Given the description of an element on the screen output the (x, y) to click on. 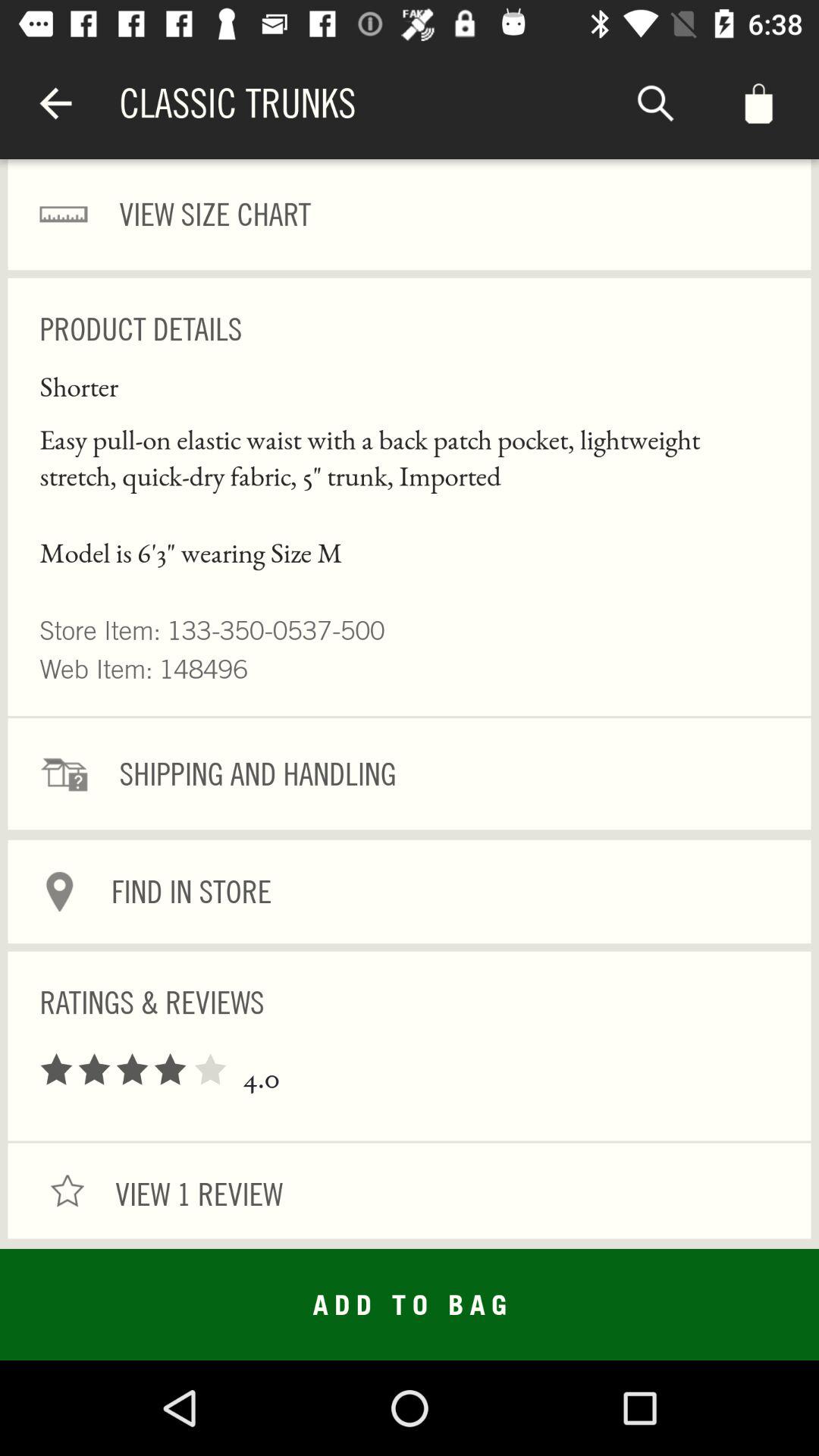
choose app next to classic trunks app (55, 103)
